Given the description of an element on the screen output the (x, y) to click on. 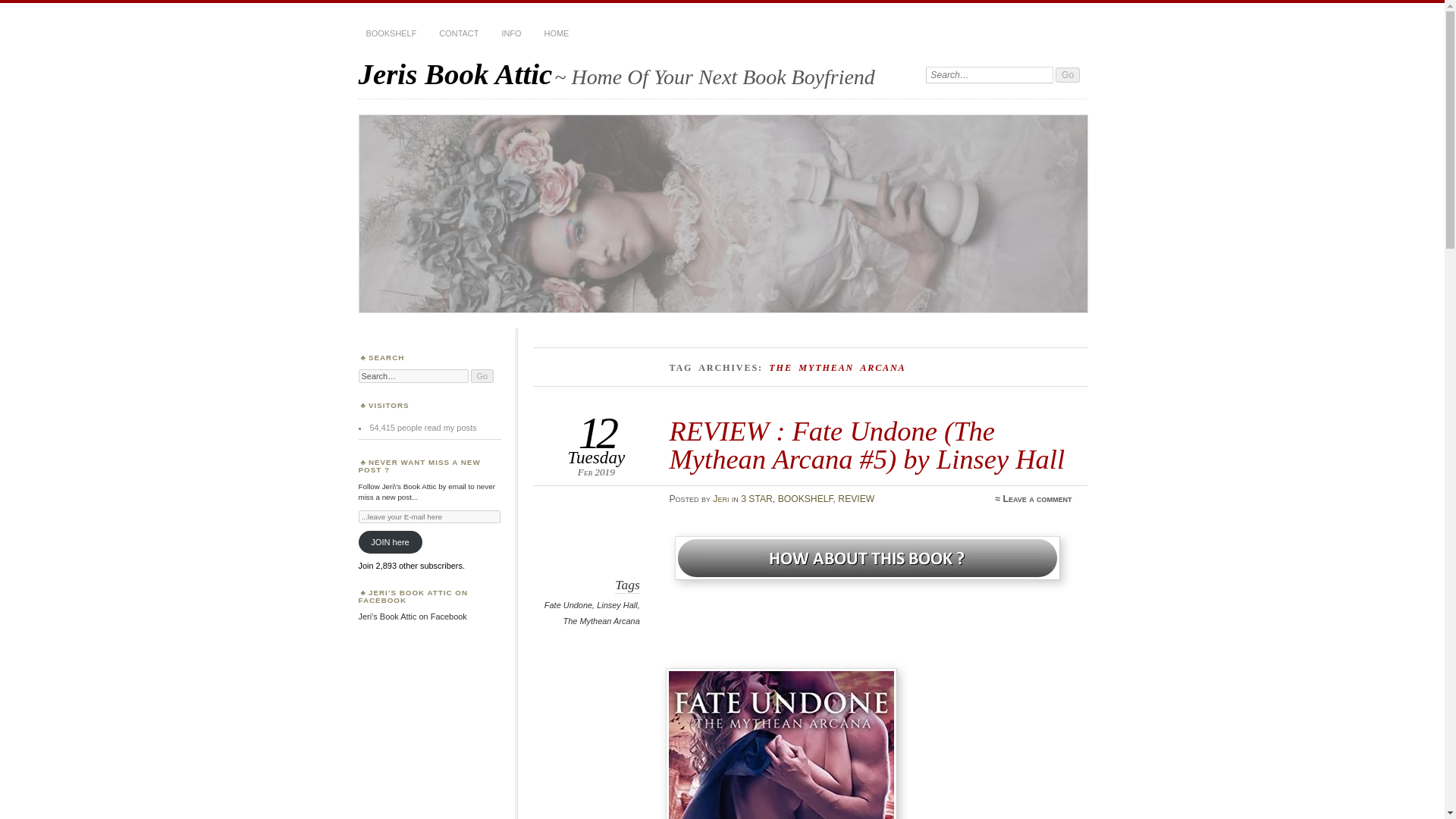
View all posts by Jeri (721, 498)
Jeris Book Attic (454, 73)
Jeri (721, 498)
Go (1067, 74)
BOOKSHELF (390, 33)
Fate Undone (568, 604)
Linsey Hall (616, 604)
HOME (556, 33)
The Mythean Arcana (601, 620)
REVIEW (856, 498)
